Given the description of an element on the screen output the (x, y) to click on. 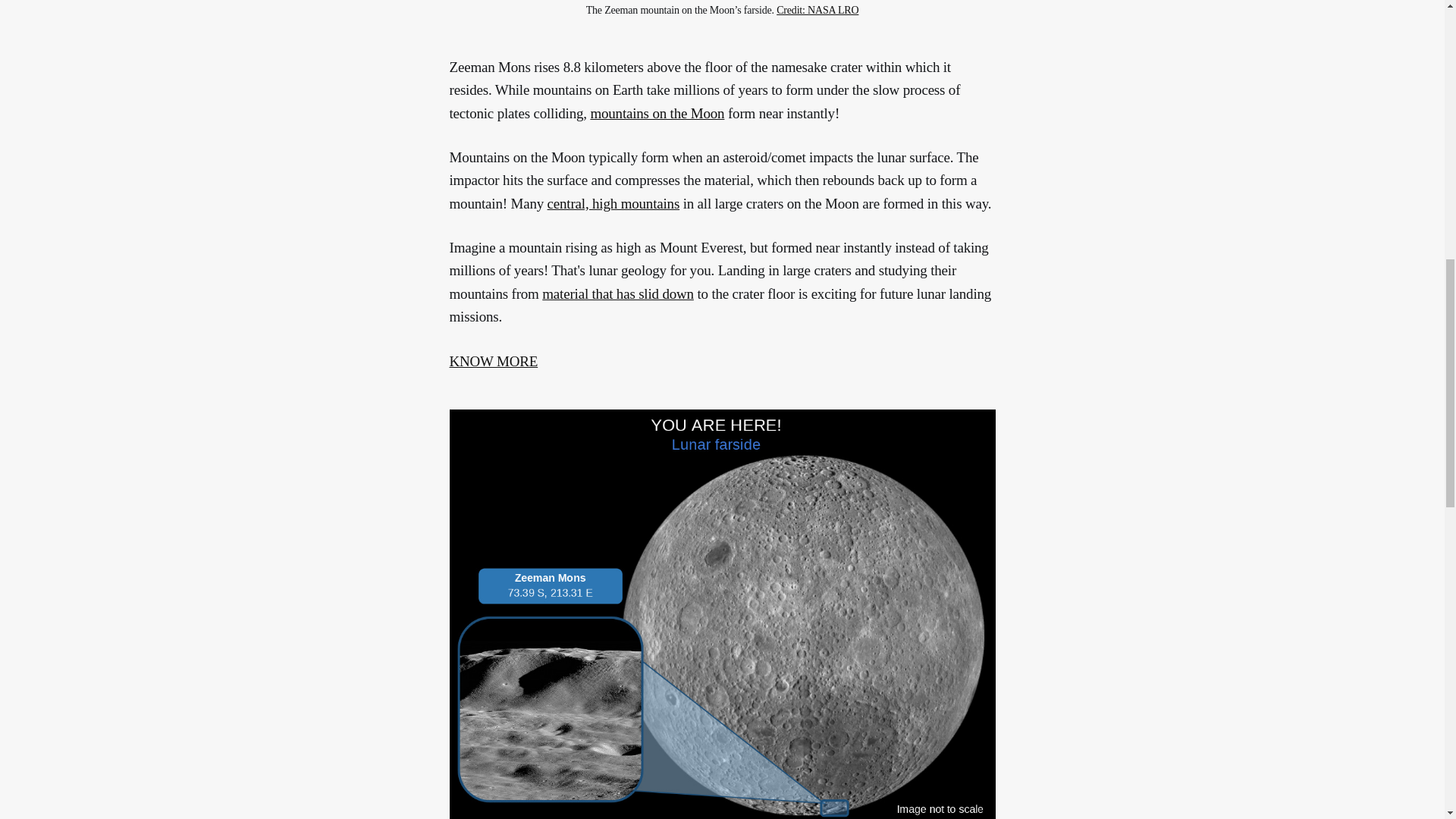
mountains on the Moon (656, 112)
material that has slid down (617, 293)
central, high mountains (613, 203)
Credit: NASA LRO (817, 9)
KNOW MORE (492, 360)
